Given the description of an element on the screen output the (x, y) to click on. 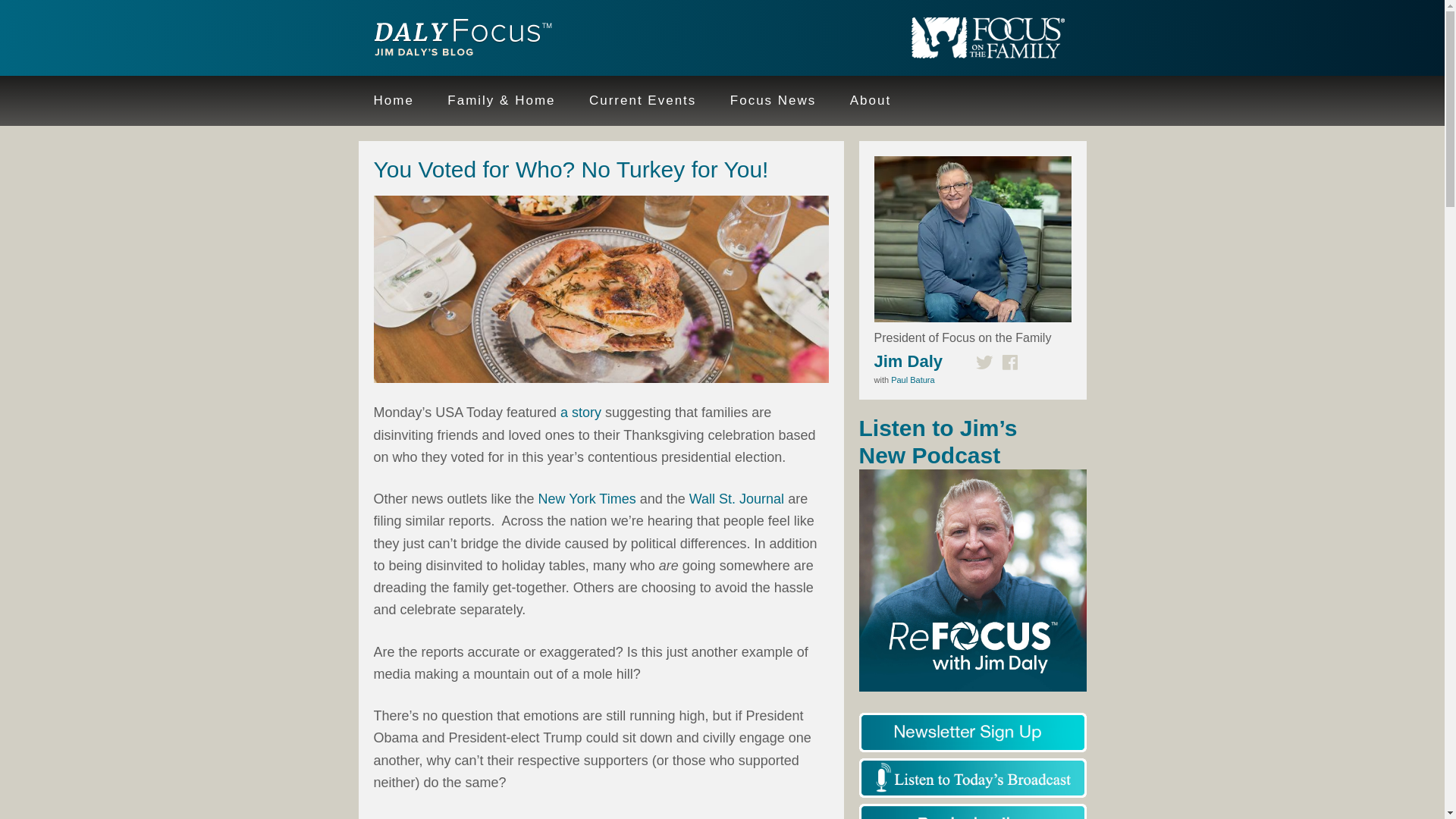
New York Times (587, 498)
Current Events (642, 101)
Wall St. Journal (736, 498)
a story (580, 412)
Paul Batura (912, 379)
About (869, 101)
Jim Daly (456, 39)
Focus News (772, 101)
Jim Daly (907, 361)
Home (393, 101)
